Given the description of an element on the screen output the (x, y) to click on. 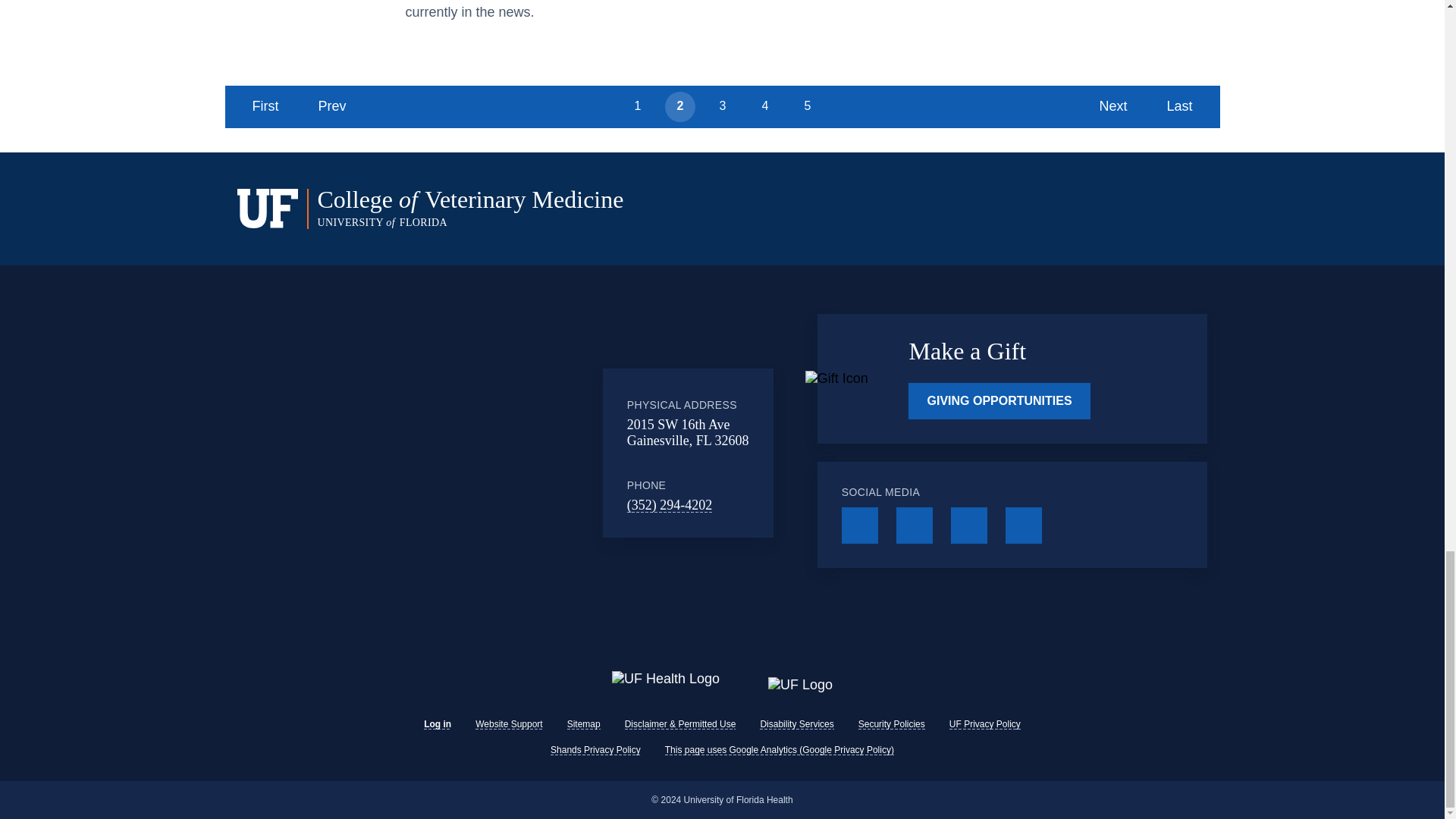
Disability Services (796, 724)
Sitemap (583, 724)
Google Maps Embed (478, 452)
UF Privacy Policy (984, 724)
Log in (437, 724)
Shands Privacy Policy (595, 749)
Security Policies (891, 724)
Website Support (509, 724)
